Given the description of an element on the screen output the (x, y) to click on. 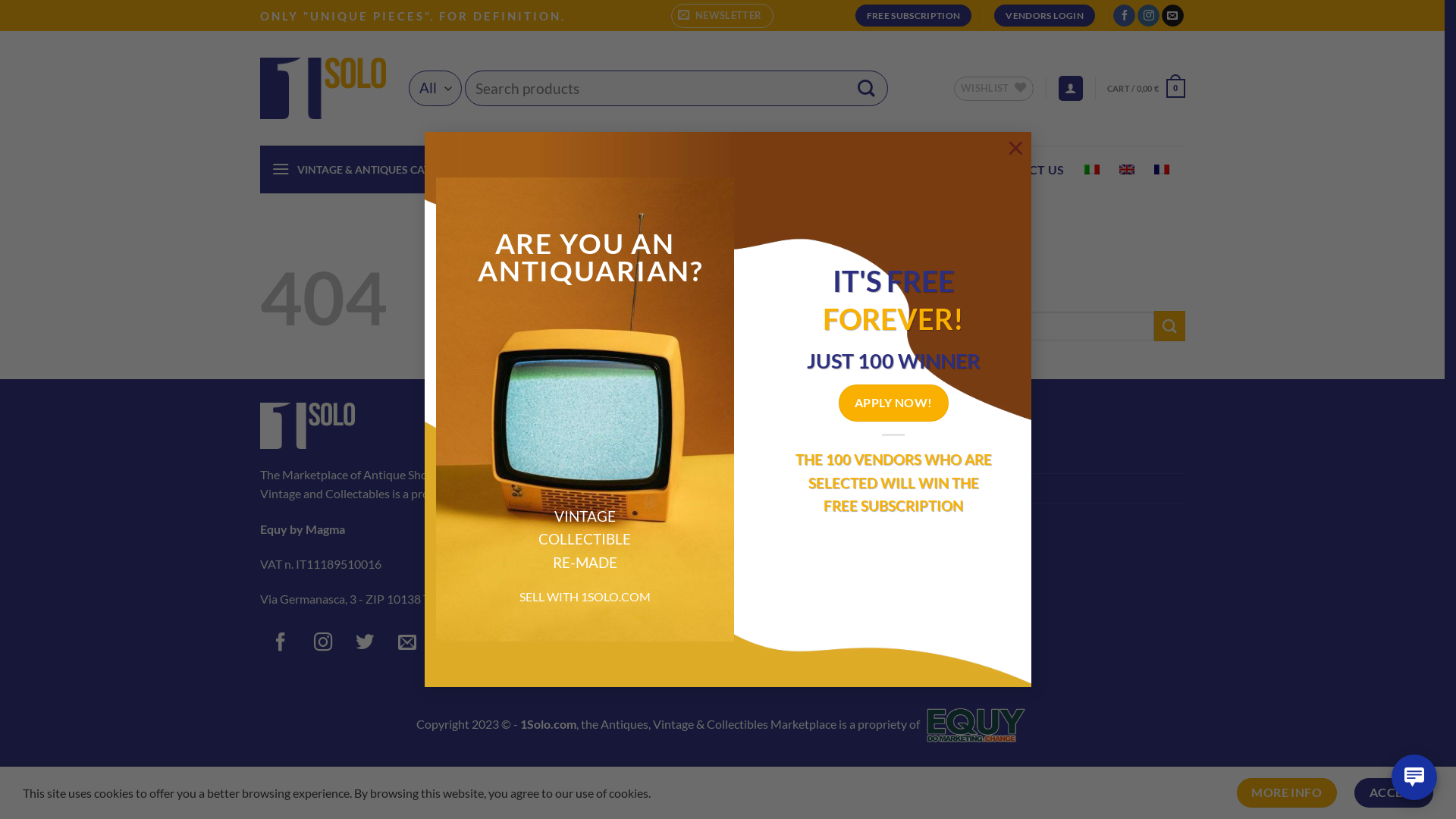
Follow on Instagram Element type: hover (323, 643)
SELLING Element type: text (936, 169)
NEWSLETTER Element type: text (722, 15)
Subscriptions Element type: text (927, 517)
Send us an email Element type: hover (407, 643)
FREE SUBSCRIPTION Element type: text (913, 15)
HOME Element type: text (561, 169)
Follow on Facebook Element type: hover (1124, 15)
ACCEPT Element type: text (1393, 792)
Vendors Registration Element type: text (946, 487)
WISHLIST Element type: text (993, 87)
Follow on Instagram Element type: hover (1148, 15)
SHOP Element type: text (618, 169)
Privacy Policy Element type: text (611, 487)
Terms & Conditions Element type: text (626, 459)
STORES Element type: text (678, 169)
MAGAZINE Element type: text (754, 169)
1Solo | Vintage Antiquariato Handmade Element type: hover (322, 87)
Search Element type: text (866, 88)
PHILOSOPHY Element type: text (846, 169)
Follow on Facebook Element type: hover (280, 643)
VENDORS LOGIN Element type: text (1044, 15)
Cookies Policy Element type: text (613, 517)
About us Element type: text (599, 546)
Send us an email Element type: hover (1172, 15)
Vendor Dashboard Element type: text (941, 459)
Follow on Twitter Element type: hover (364, 643)
MORE INFO Element type: text (1286, 792)
APPLY NOW! Element type: text (893, 402)
CONTACT US Element type: text (1024, 169)
FAQs Element type: text (590, 575)
